Given the description of an element on the screen output the (x, y) to click on. 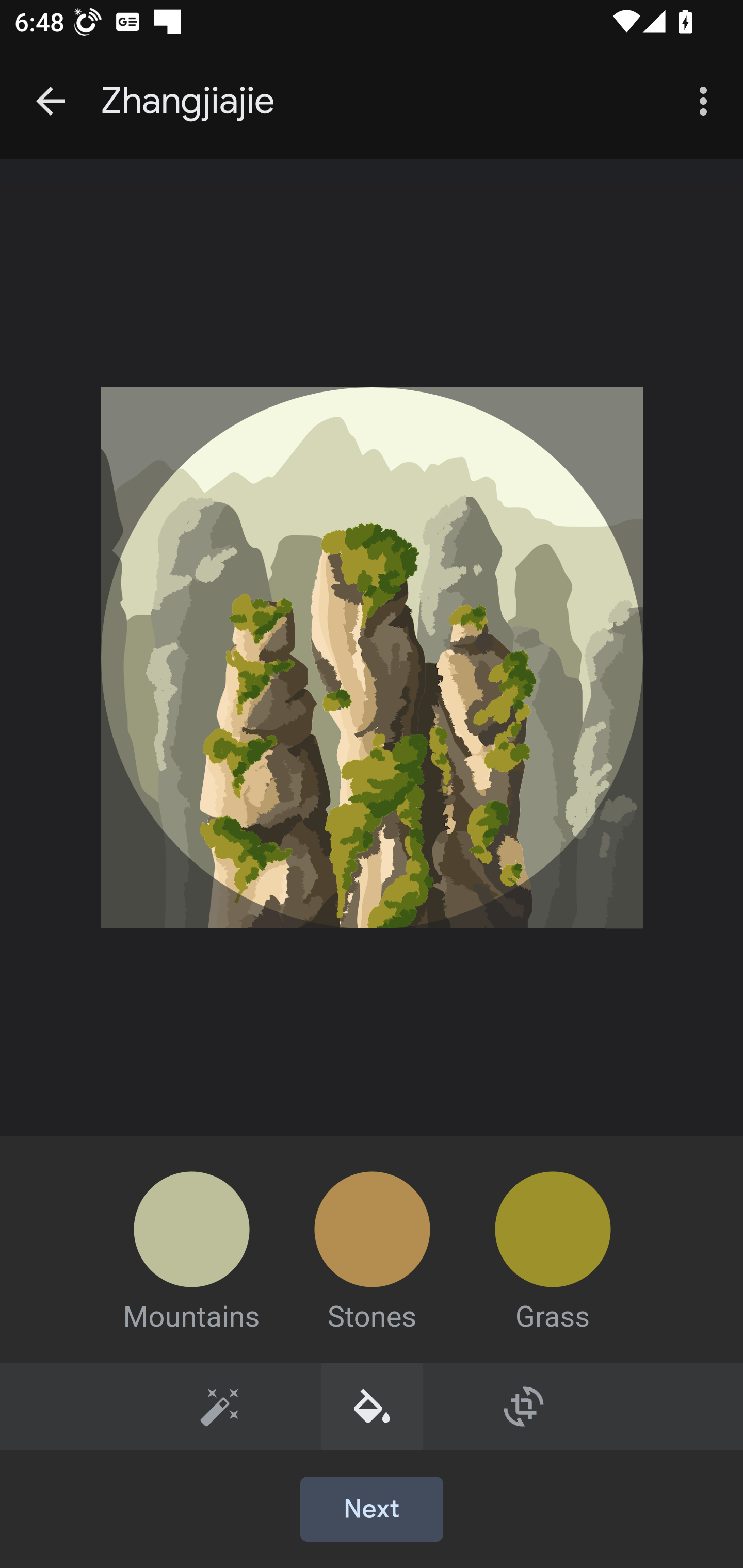
Navigate up (50, 101)
More options (706, 101)
Mountains (191, 1233)
Stones (371, 1233)
Grass (552, 1233)
Presets (220, 1406)
Colorize (372, 1406)
Crop (523, 1406)
Next (371, 1509)
